Given the description of an element on the screen output the (x, y) to click on. 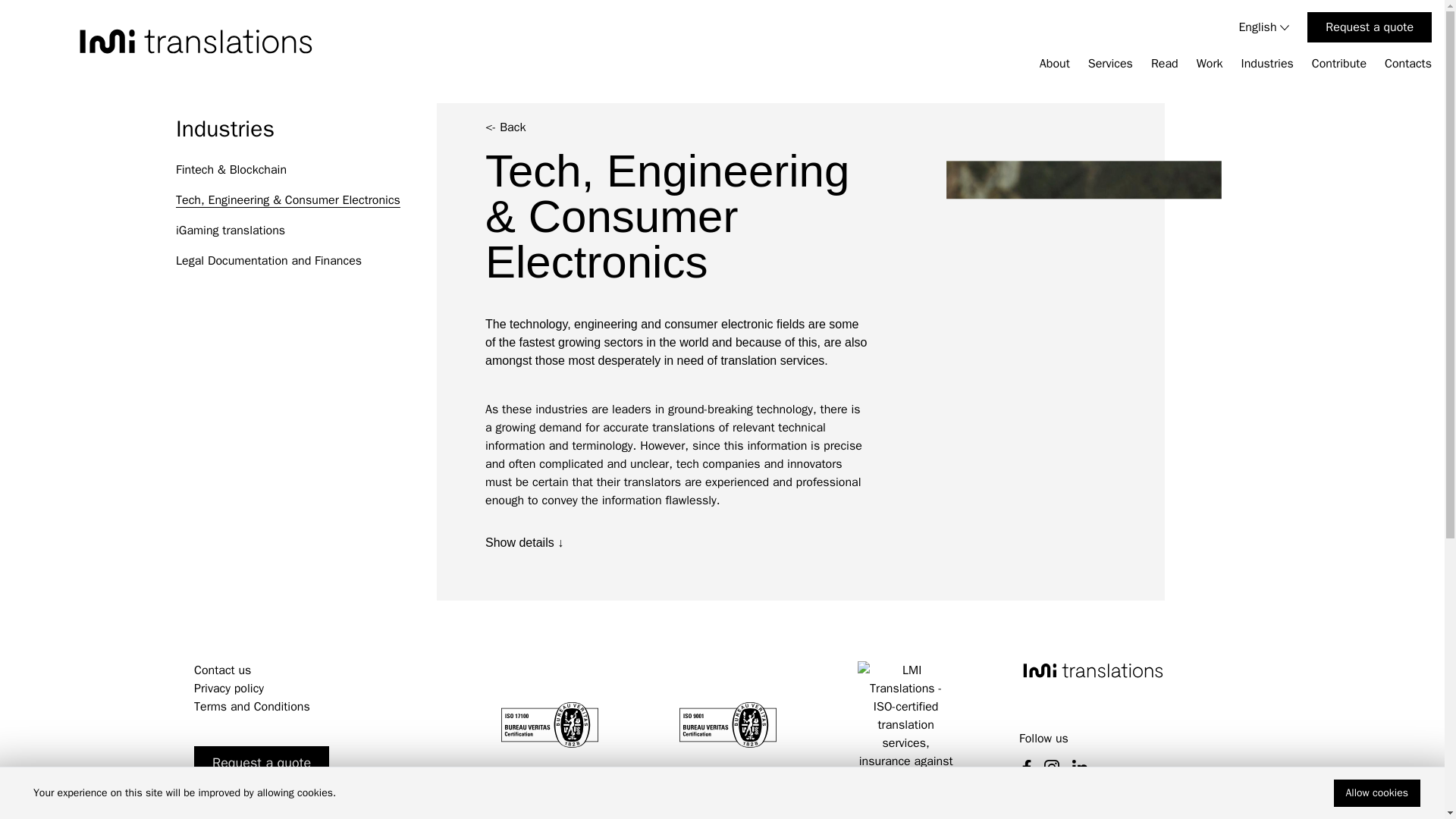
Contacts (1407, 63)
Industries (1266, 63)
Contribute (1339, 63)
Privacy policy (228, 688)
Services (1109, 63)
Work (1209, 63)
Terms and Conditions (251, 706)
Read (1164, 63)
English (1263, 27)
Request a quote (1369, 27)
About (1054, 63)
Legal Documentation and Finances (306, 260)
Contact us (221, 670)
Request a quote (261, 762)
iGaming translations (306, 230)
